Given the description of an element on the screen output the (x, y) to click on. 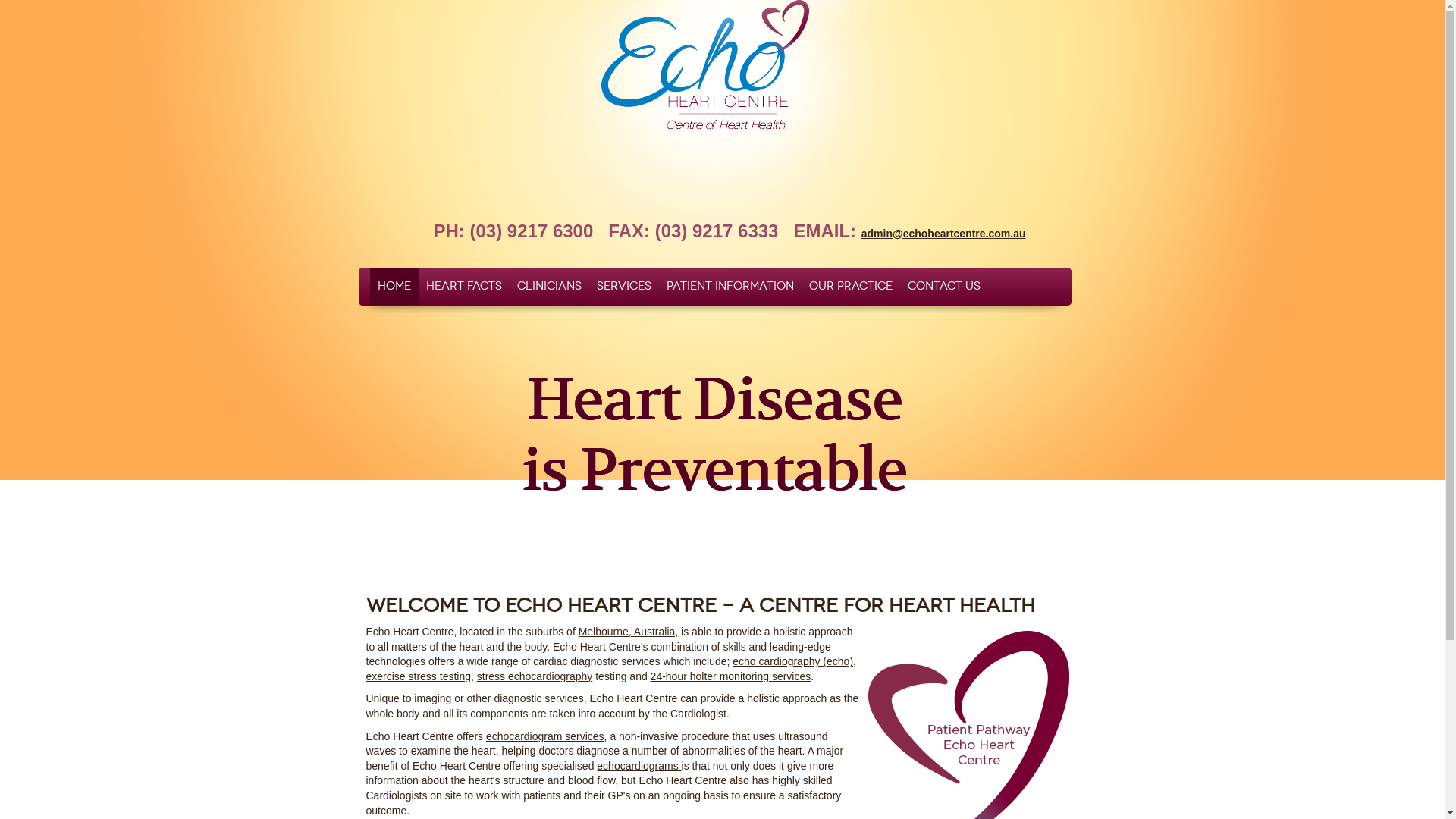
echocardiogram services Element type: text (545, 736)
echocardiograms Element type: text (638, 765)
exercise stress testing Element type: text (417, 676)
HOME Element type: text (394, 285)
stress echocardiography Element type: text (534, 676)
echo cardiography (echo) Element type: text (792, 661)
CONTACT US Element type: text (943, 285)
Melbourne, Australia, Element type: text (628, 631)
HEART FACTS Element type: text (463, 285)
24-hour holter monitoring services Element type: text (730, 676)
SERVICES Element type: text (623, 285)
admin@echoheartcentre.com.au Element type: text (943, 233)
